Given the description of an element on the screen output the (x, y) to click on. 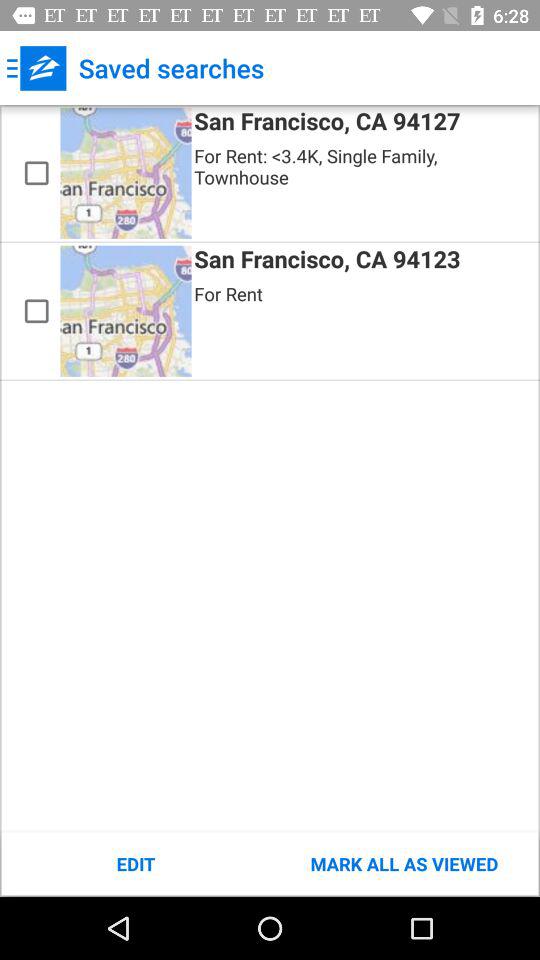
turn off the edit at the bottom left corner (135, 863)
